Given the description of an element on the screen output the (x, y) to click on. 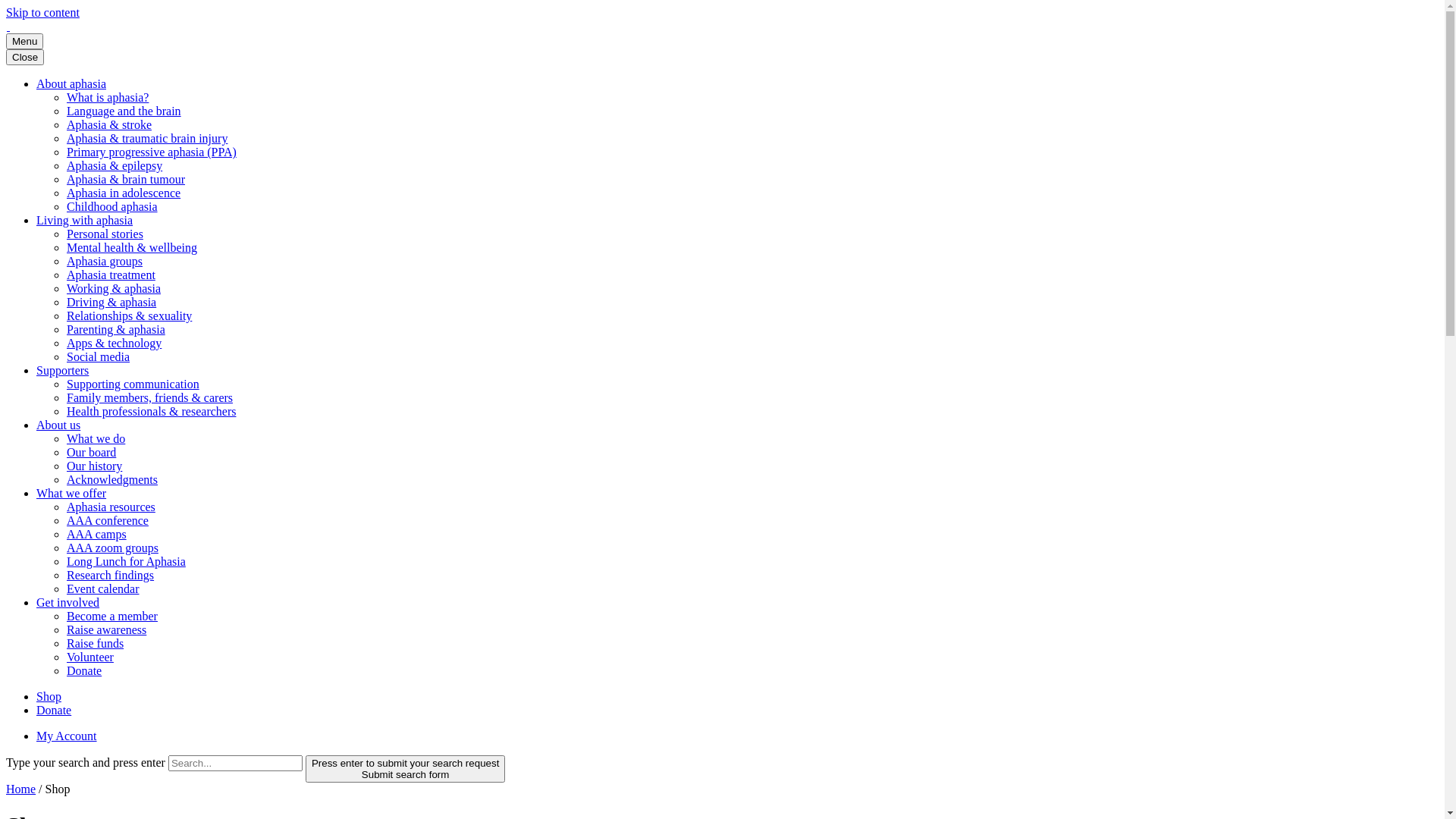
What we offer Element type: text (71, 492)
Working & aphasia Element type: text (113, 288)
Raise awareness Element type: text (106, 629)
Aphasia & traumatic brain injury Element type: text (146, 137)
What we do Element type: text (95, 438)
AAA camps Element type: text (96, 533)
Aphasia & epilepsy Element type: text (114, 165)
Health professionals & researchers Element type: text (150, 410)
Skip to content Element type: text (42, 12)
My Account Element type: text (66, 735)
Family members, friends & carers Element type: text (149, 397)
Press enter to submit your search request
Submit search form Element type: text (405, 768)
Become a member Element type: text (111, 615)
Mental health & wellbeing Element type: text (131, 247)
Relationships & sexuality Element type: text (128, 315)
Research findings Element type: text (109, 574)
Aphasia resources Element type: text (110, 506)
Personal stories Element type: text (104, 233)
Apps & technology Element type: text (113, 342)
Social media Element type: text (97, 356)
AAA zoom groups Element type: text (112, 547)
What is aphasia? Element type: text (107, 97)
Aphasia & brain tumour Element type: text (125, 178)
Long Lunch for Aphasia Element type: text (125, 561)
Aphasia groups Element type: text (104, 260)
Living with aphasia Element type: text (84, 219)
Our board Element type: text (91, 451)
Acknowledgments Element type: text (111, 479)
Donate Element type: text (53, 709)
Our history Element type: text (94, 465)
Get involved Element type: text (67, 602)
Volunteer Element type: text (89, 656)
Donate Element type: text (83, 670)
About aphasia Element type: text (71, 83)
Driving & aphasia Element type: text (111, 301)
Aphasia in adolescence Element type: text (123, 192)
Supporting communication Element type: text (132, 383)
Primary progressive aphasia (PPA) Element type: text (151, 151)
Supporters Element type: text (62, 370)
Aphasia treatment Element type: text (110, 274)
Childhood aphasia Element type: text (111, 206)
Shop Element type: text (48, 696)
Menu Element type: text (24, 41)
Close Element type: text (24, 57)
Home Element type: text (20, 788)
Aphasia & stroke Element type: text (108, 124)
Parenting & aphasia Element type: text (115, 329)
Raise funds Element type: text (94, 643)
AAA conference Element type: text (107, 520)
About us Element type: text (58, 424)
Event calendar Element type: text (102, 588)
Language and the brain Element type: text (123, 110)
